Given the description of an element on the screen output the (x, y) to click on. 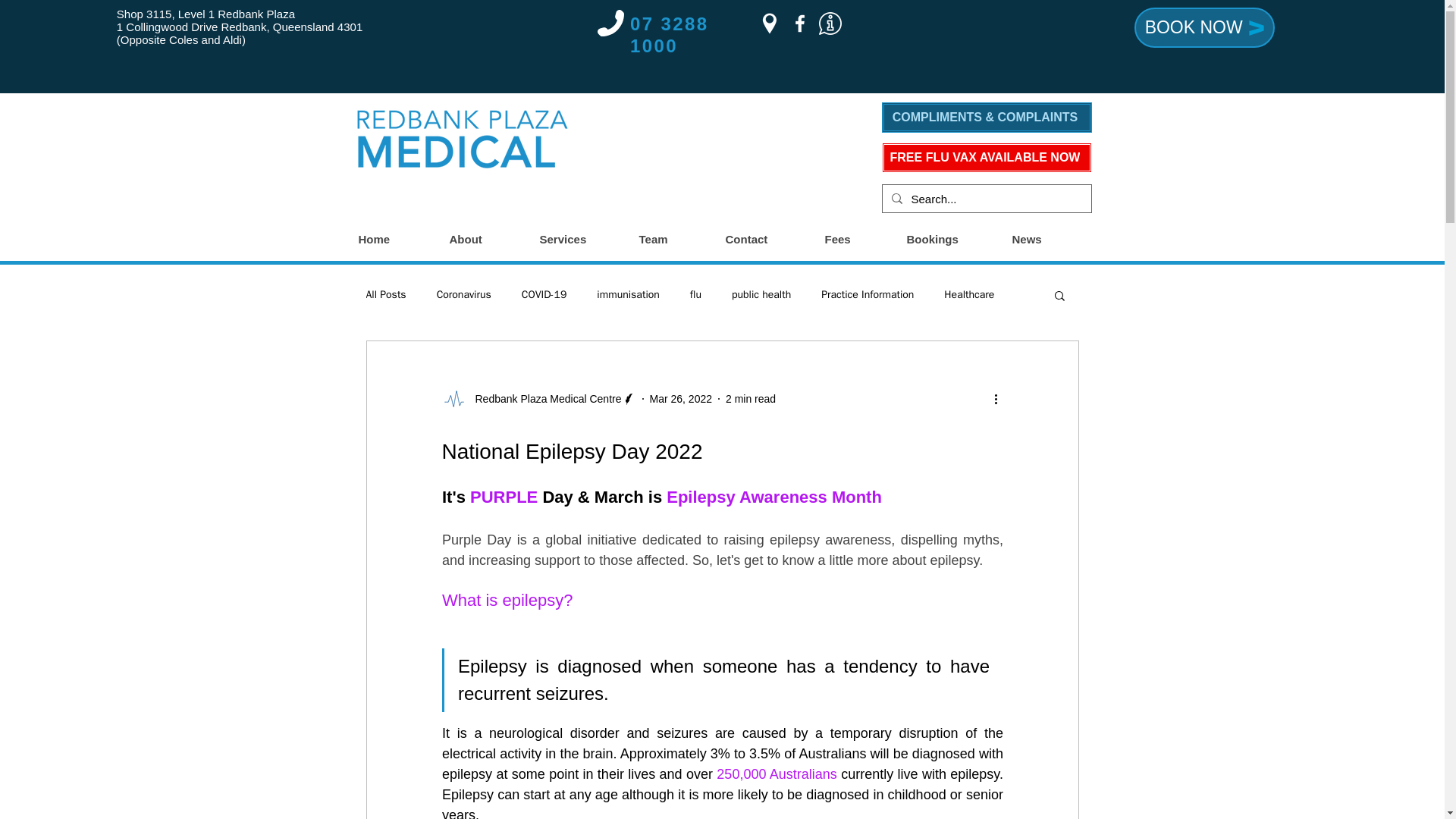
About (486, 239)
Contact (766, 239)
Fees (857, 239)
BOOK NOW (1204, 27)
Team (673, 239)
COVID-19 (544, 295)
2 min read (750, 398)
Practice Information (867, 295)
News (1047, 239)
public health (761, 295)
FREE FLU VAX AVAILABLE NOW (985, 157)
07 3288 1000 (669, 34)
Coronavirus (464, 295)
Home (395, 239)
Mar 26, 2022 (680, 398)
